Given the description of an element on the screen output the (x, y) to click on. 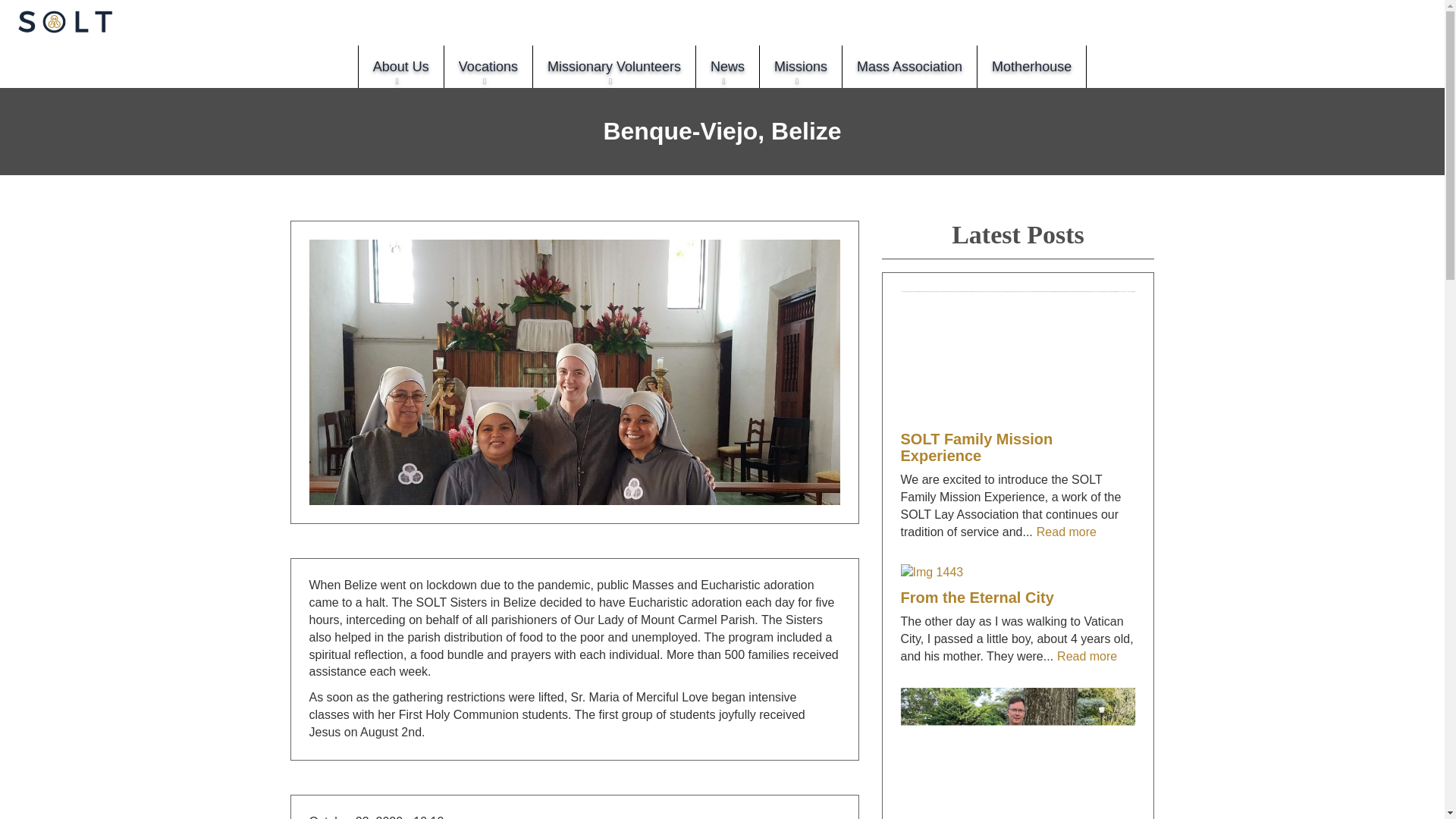
News (726, 66)
Missions (799, 66)
About Us (401, 66)
Missionary Volunteers (613, 66)
Vocations (488, 66)
